Given the description of an element on the screen output the (x, y) to click on. 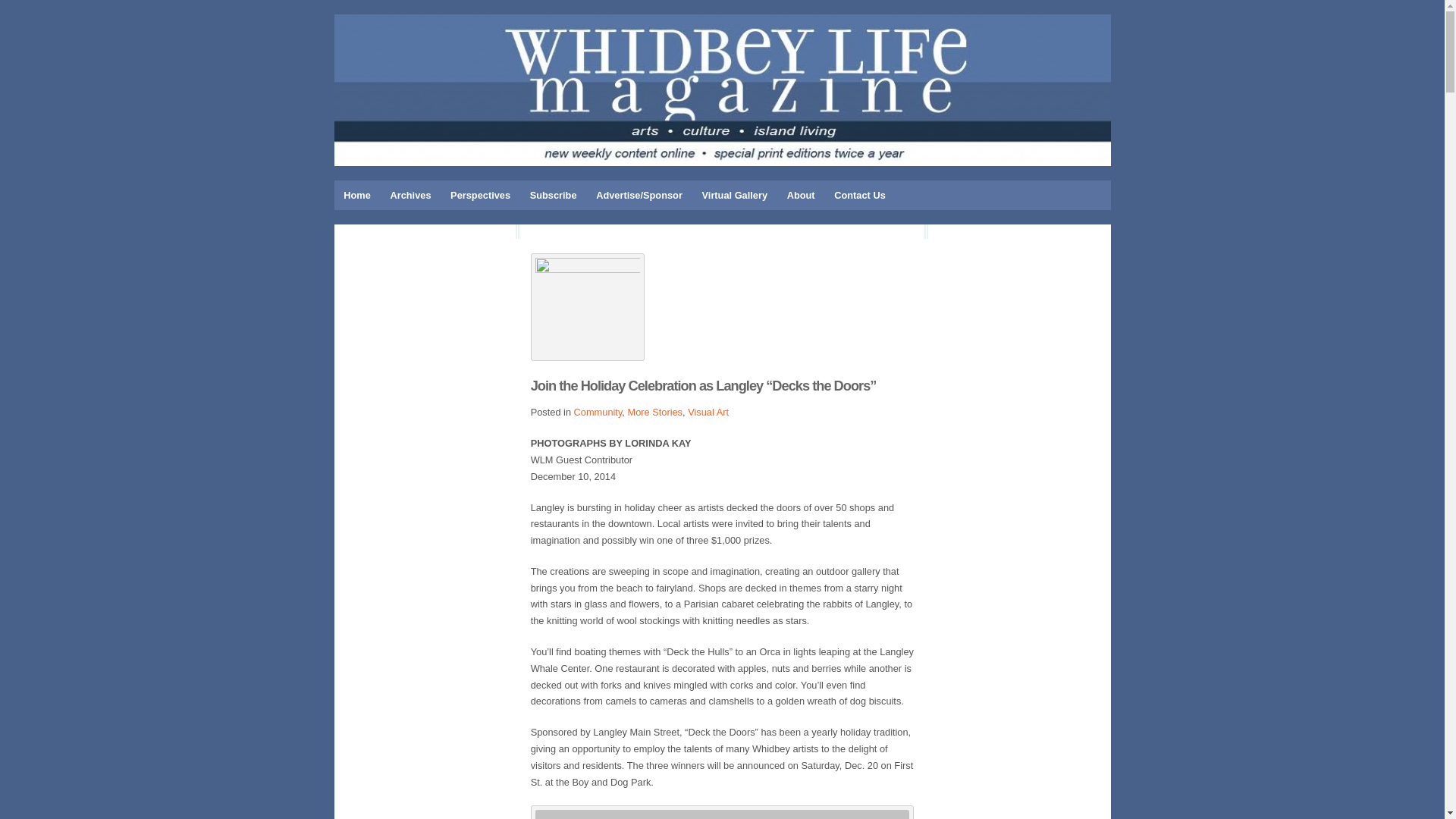
Home (356, 194)
Contact Us (859, 194)
Subscribe (552, 194)
Community (598, 411)
About (801, 194)
Virtual Gallery (735, 194)
Archives (410, 194)
Perspectives (480, 194)
